Given the description of an element on the screen output the (x, y) to click on. 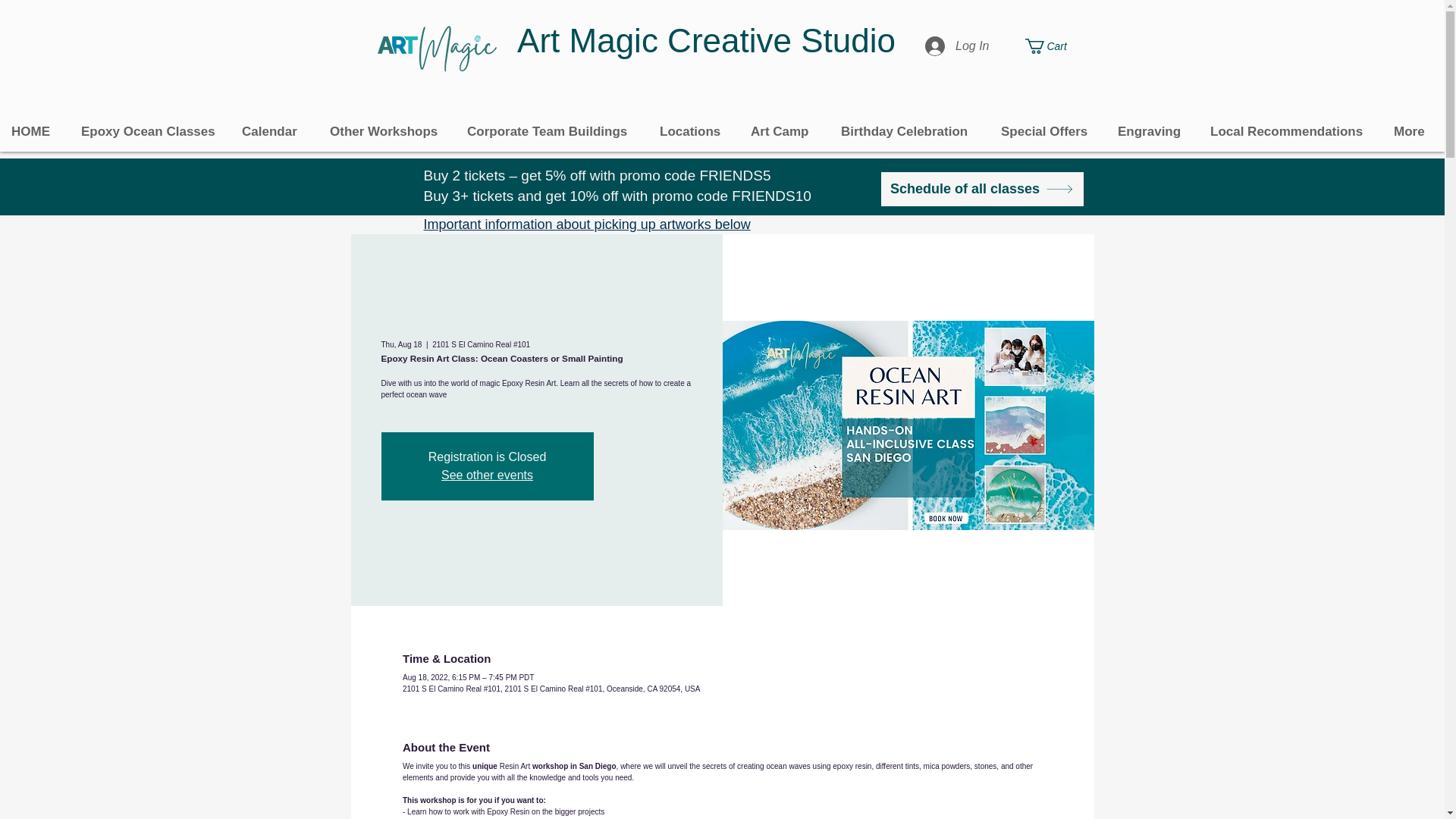
Corporate Team Buildings (551, 131)
Log In (956, 45)
Cart (1054, 46)
Schedule of all classes (981, 188)
Birthday Celebration (909, 131)
Epoxy Ocean Classes (149, 131)
Engraving (1152, 131)
Art Magic Creative Studio (705, 40)
Cart (1054, 46)
Local Recommendations (1289, 131)
